Given the description of an element on the screen output the (x, y) to click on. 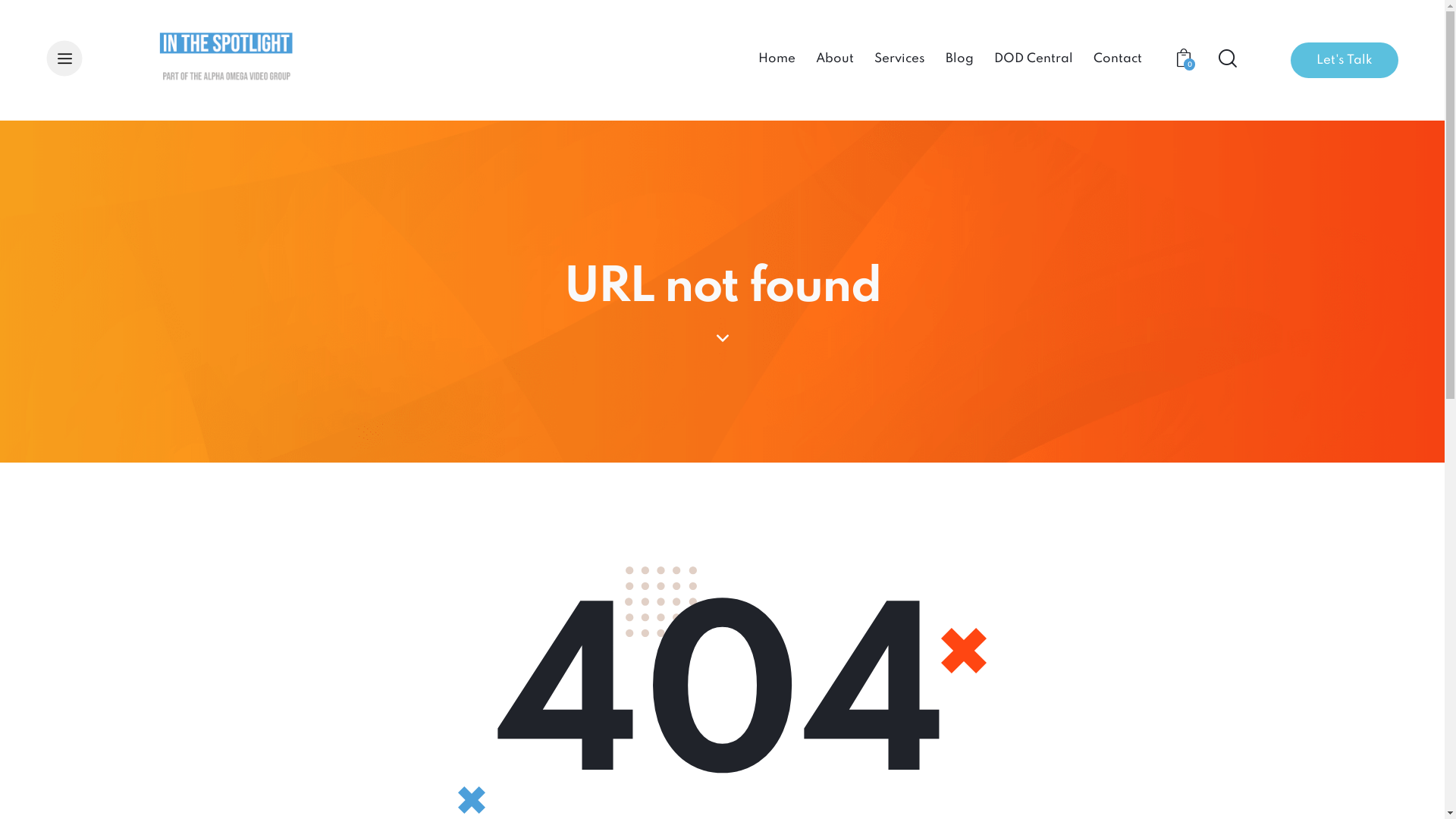
Home Element type: text (776, 60)
Contact Element type: text (1116, 60)
DOD Central Element type: text (1032, 60)
About Element type: text (834, 60)
Let's Talk Element type: text (1344, 60)
Blog Element type: text (959, 60)
Services Element type: text (899, 60)
